Given the description of an element on the screen output the (x, y) to click on. 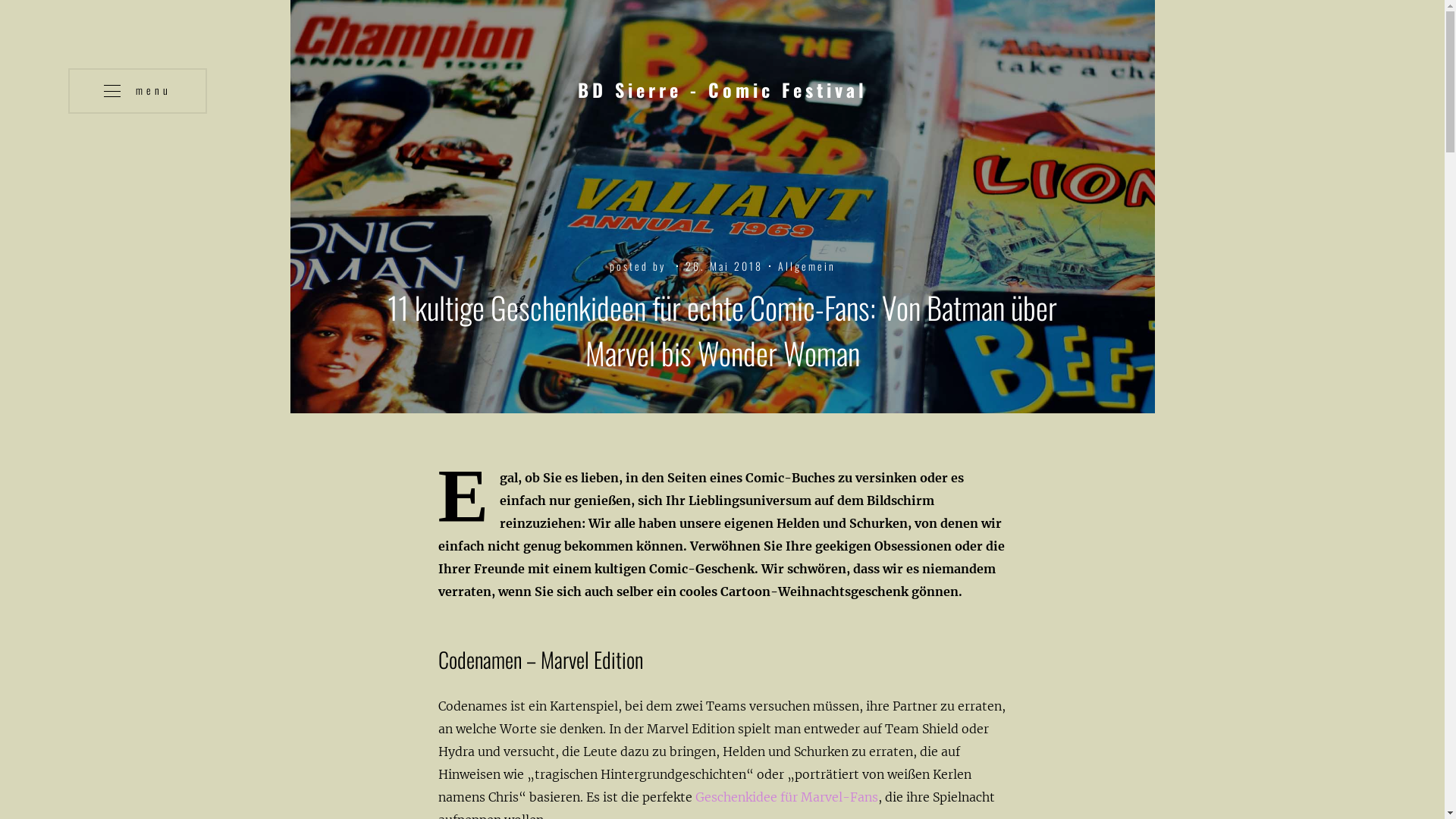
BD Sierre - Comic Festival Element type: text (722, 90)
menu Element type: text (137, 90)
Allgemein Element type: text (806, 265)
26. Mai 2018 Element type: text (723, 265)
